Given the description of an element on the screen output the (x, y) to click on. 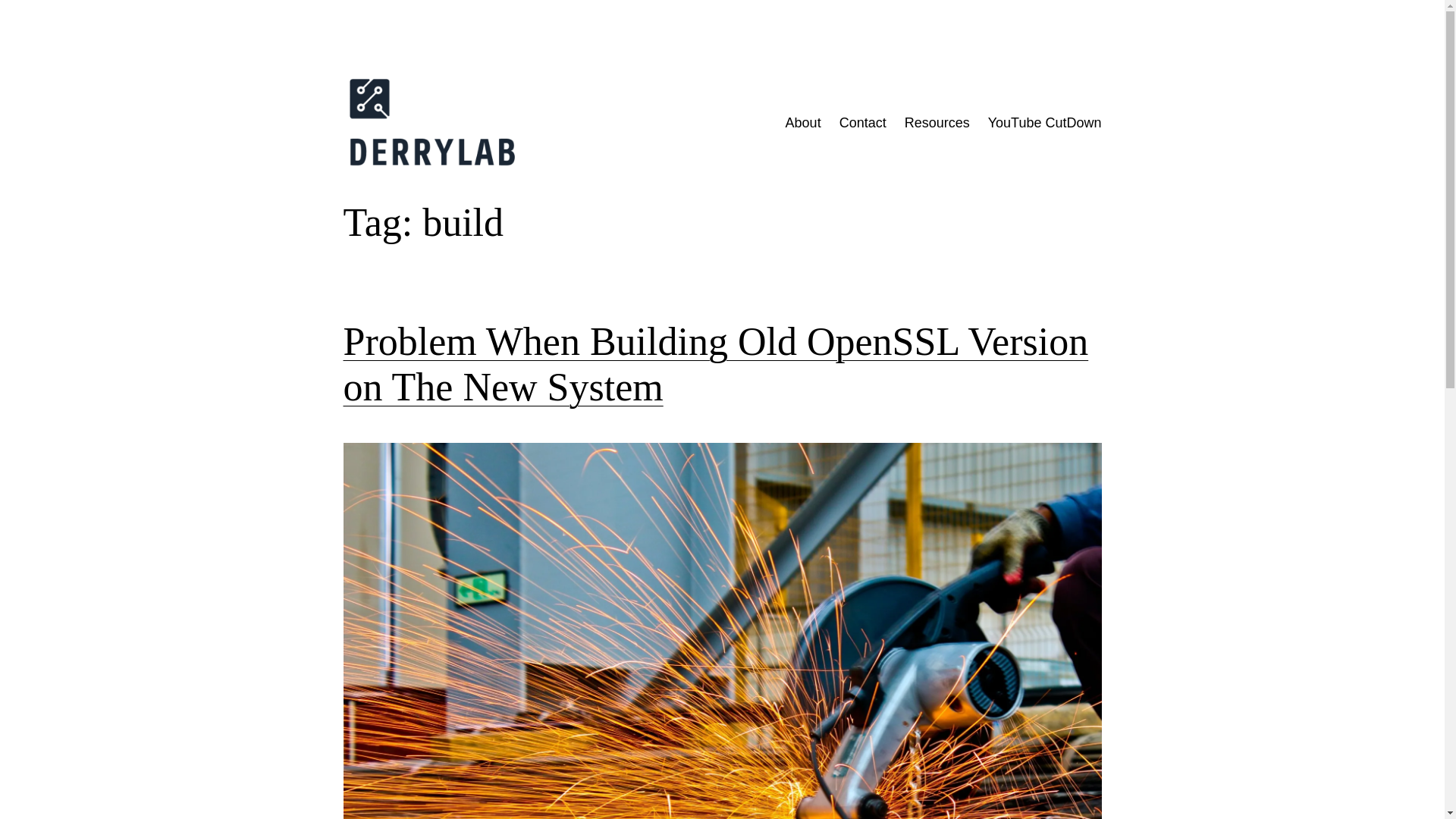
About (803, 123)
Problem When Building Old OpenSSL Version on The New System (721, 364)
YouTube CutDown (1045, 123)
Contact (863, 123)
Resources (936, 123)
